Given the description of an element on the screen output the (x, y) to click on. 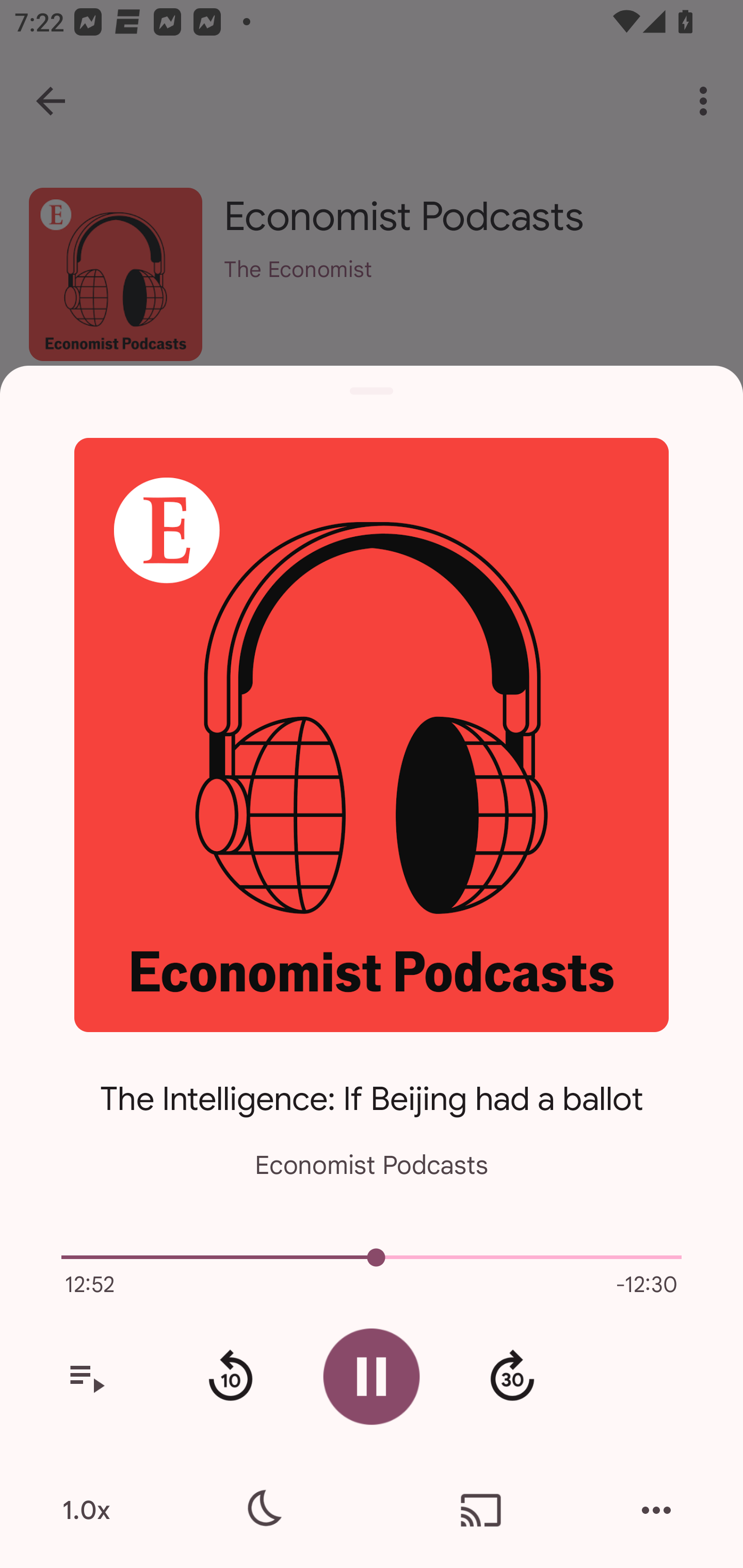
Open the show page for Economist Podcasts (371, 734)
5073.0 Current episode playback (371, 1257)
Pause (371, 1376)
View your queue (86, 1376)
Rewind 10 seconds (230, 1376)
Fast forward 30 second (511, 1376)
1.0x Playback speed is 1.0. (86, 1510)
Sleep timer settings (261, 1510)
Cast. Disconnected (480, 1510)
More actions (655, 1510)
